Given the description of an element on the screen output the (x, y) to click on. 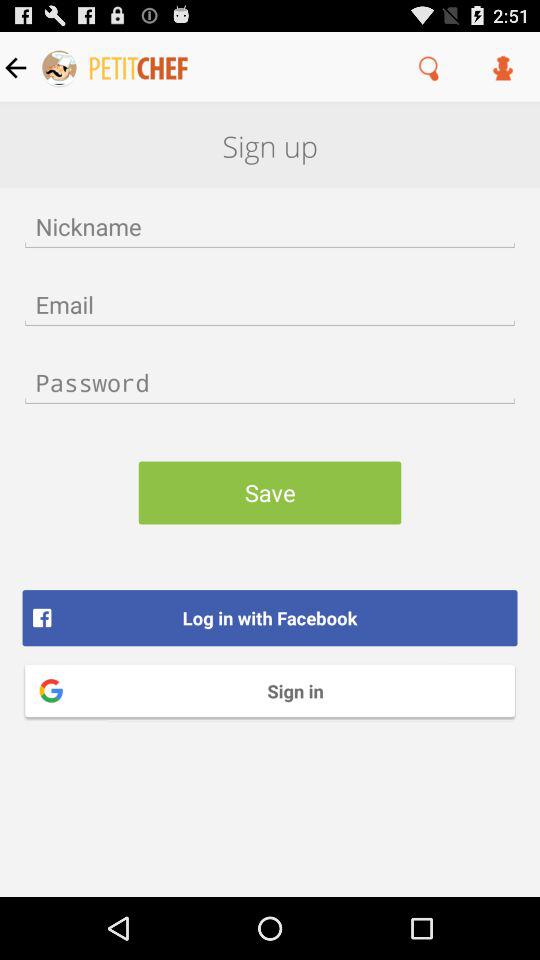
turn on the button below save icon (269, 617)
